Given the description of an element on the screen output the (x, y) to click on. 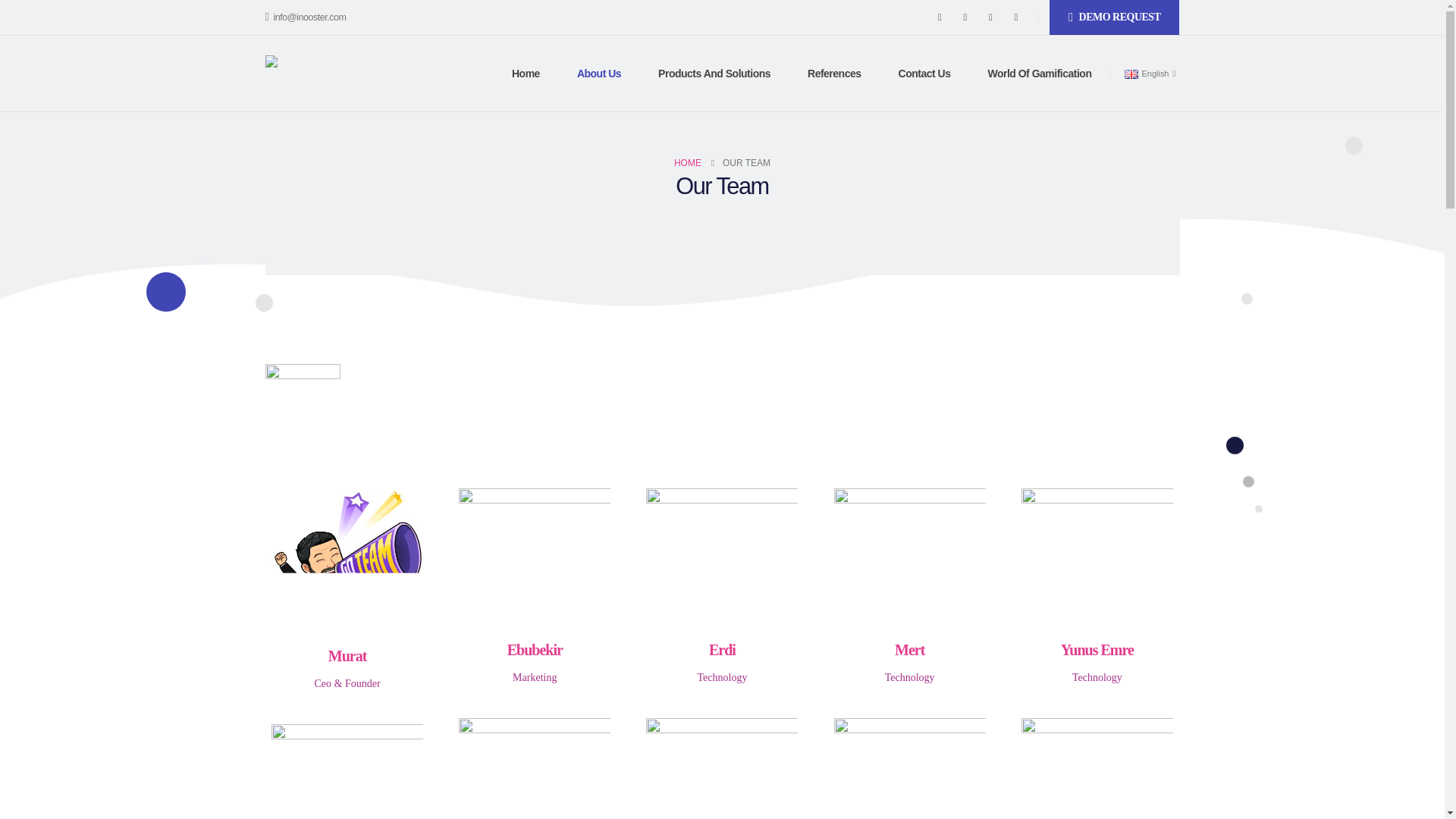
LinkedIn (1016, 16)
Contact Us (924, 73)
Twitter (965, 16)
About Us (599, 73)
Instagram (990, 16)
Go to Home Page (687, 162)
World Of Gamification (1034, 73)
English (1150, 73)
Products And Solutions (714, 73)
References (834, 73)
DEMO REQUEST (1114, 17)
Facebook (939, 16)
Inooster Information Technologies -  (340, 72)
